Given the description of an element on the screen output the (x, y) to click on. 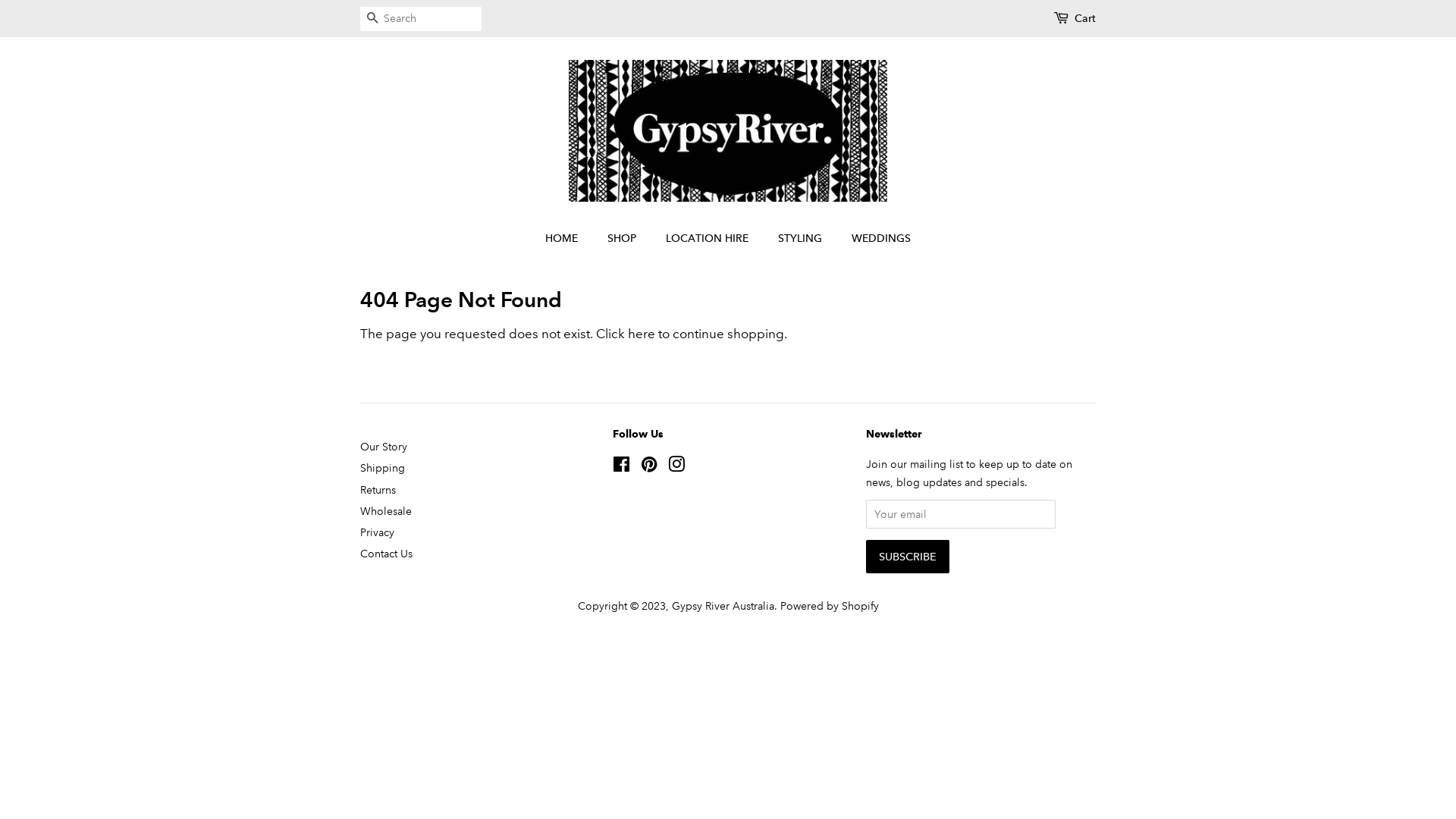
Returns Element type: text (377, 489)
LOCATION HIRE Element type: text (708, 238)
Wholesale Element type: text (385, 510)
Powered by Shopify Element type: text (828, 605)
Subscribe Element type: text (907, 556)
Gypsy River Australia Element type: text (722, 605)
Facebook Element type: text (621, 466)
Pinterest Element type: text (648, 466)
WEDDINGS Element type: text (875, 238)
here Element type: text (641, 334)
STYLING Element type: text (801, 238)
Instagram Element type: text (676, 466)
SEARCH Element type: text (372, 18)
Cart Element type: text (1084, 18)
Contact Us Element type: text (386, 553)
SHOP Element type: text (623, 238)
HOME Element type: text (569, 238)
Our Story Element type: text (383, 446)
Privacy Element type: text (377, 532)
Shipping Element type: text (382, 467)
